Given the description of an element on the screen output the (x, y) to click on. 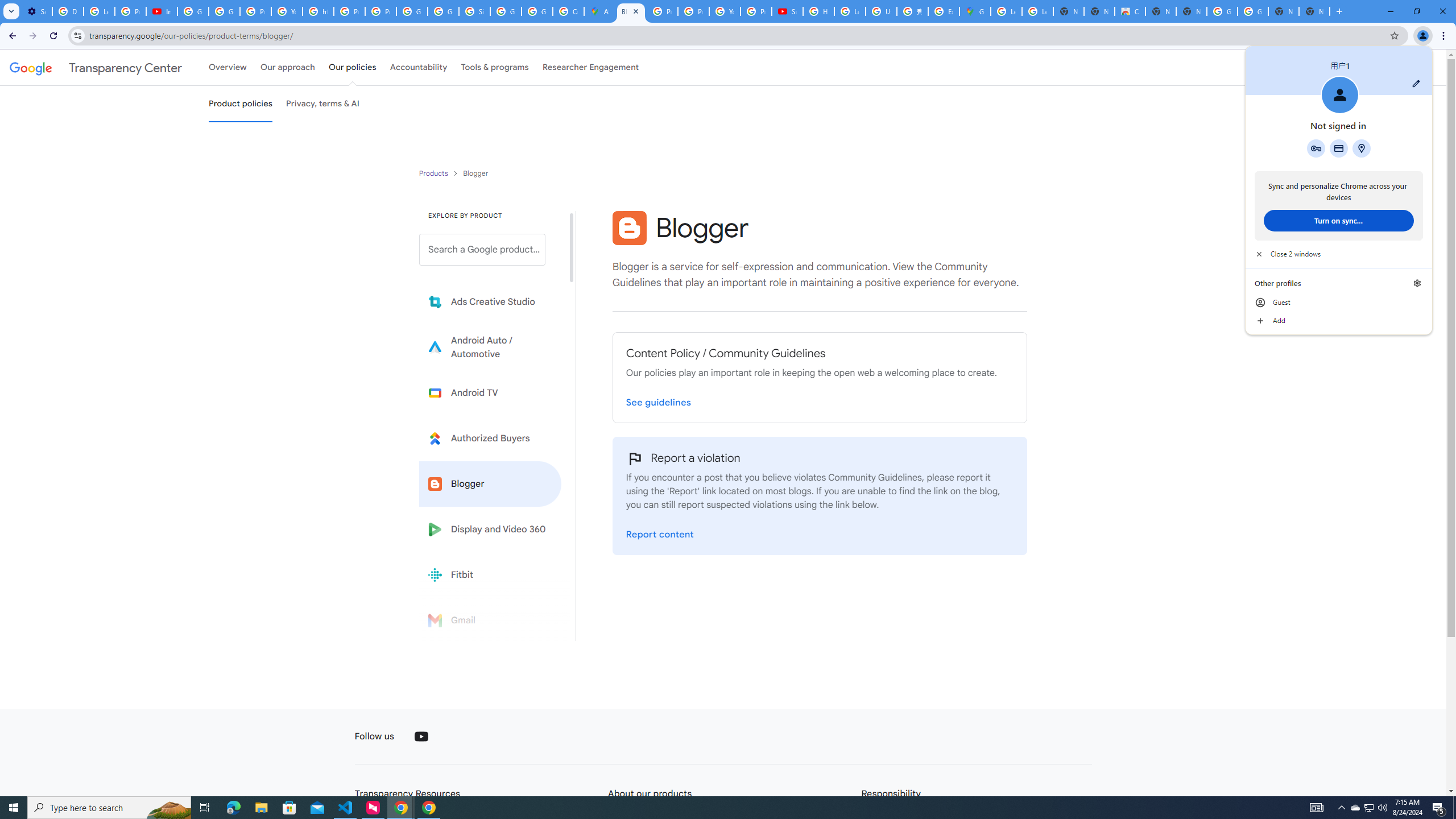
Close 2 windows (1338, 253)
Visual Studio Code - 1 running window (345, 807)
Product policies (434, 173)
Learn more about Ads Creative Studio (490, 302)
Settings - Performance (36, 11)
File Explorer (261, 807)
Privacy Help Center - Policies Help (349, 11)
Google Maps (974, 11)
Gmail (490, 619)
Learn more about Android TV (490, 393)
Our policies (351, 67)
Manage profiles (1417, 283)
